Given the description of an element on the screen output the (x, y) to click on. 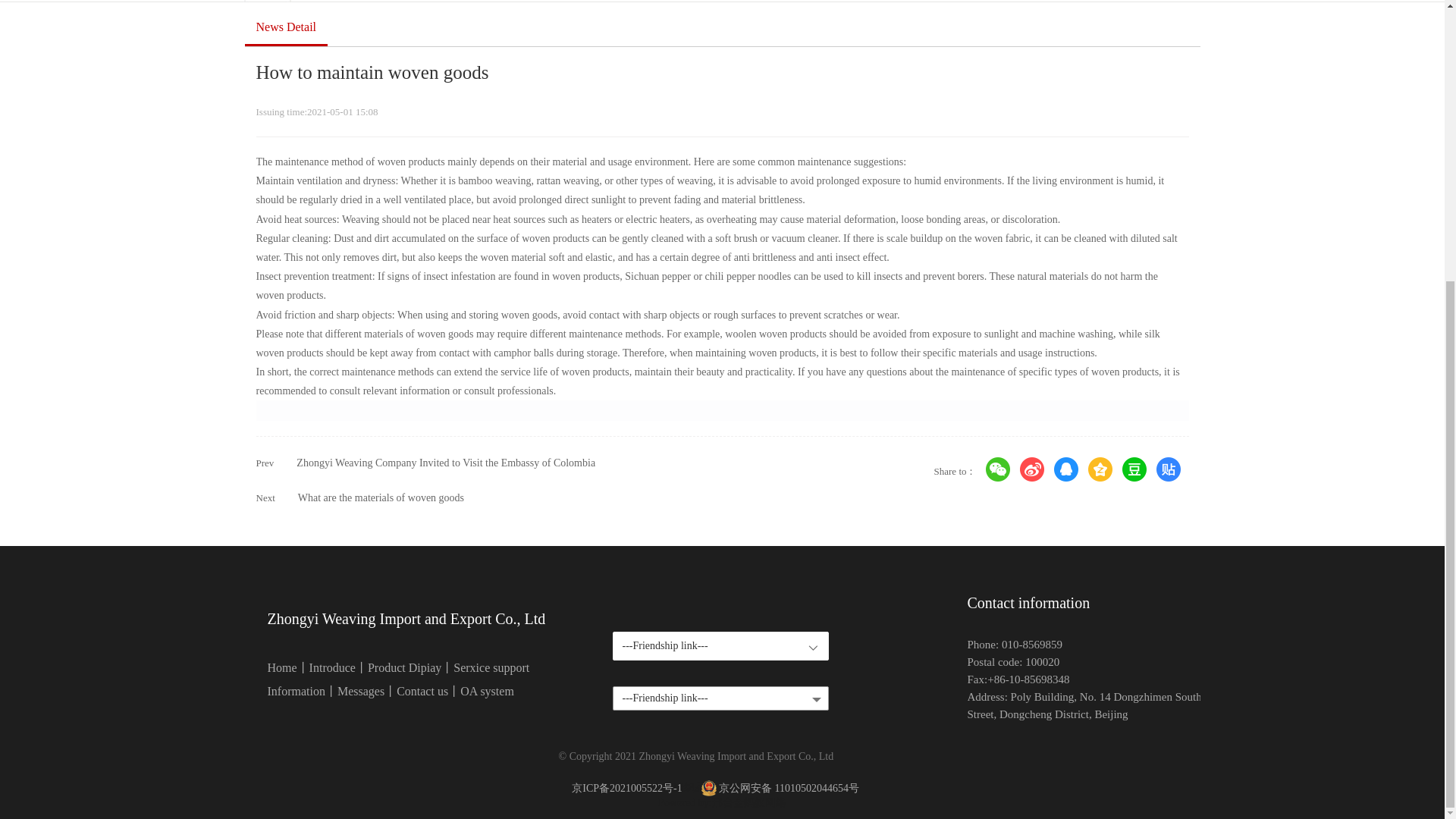
Contact us (422, 690)
Information (295, 690)
Home (281, 667)
Share to QQ (1066, 469)
What are the materials of woven goods (381, 497)
Share to Sina Weibo (1031, 469)
Share to WeChat (997, 469)
Share to Baidu Tieba (1168, 469)
Messages (360, 690)
